Given the description of an element on the screen output the (x, y) to click on. 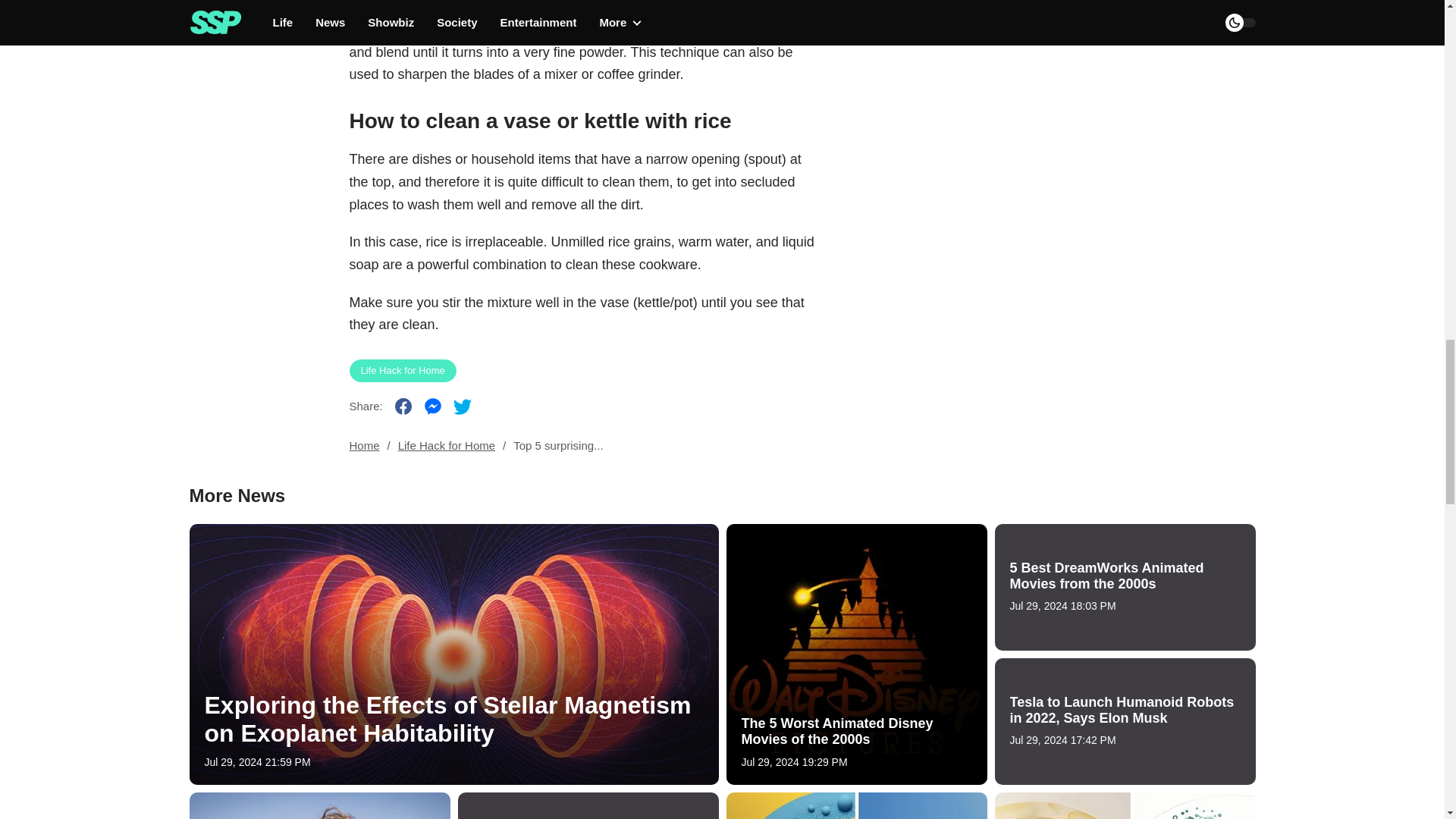
Life Hack for Home (446, 445)
Life Hack for Home (402, 370)
Home (363, 445)
